Given the description of an element on the screen output the (x, y) to click on. 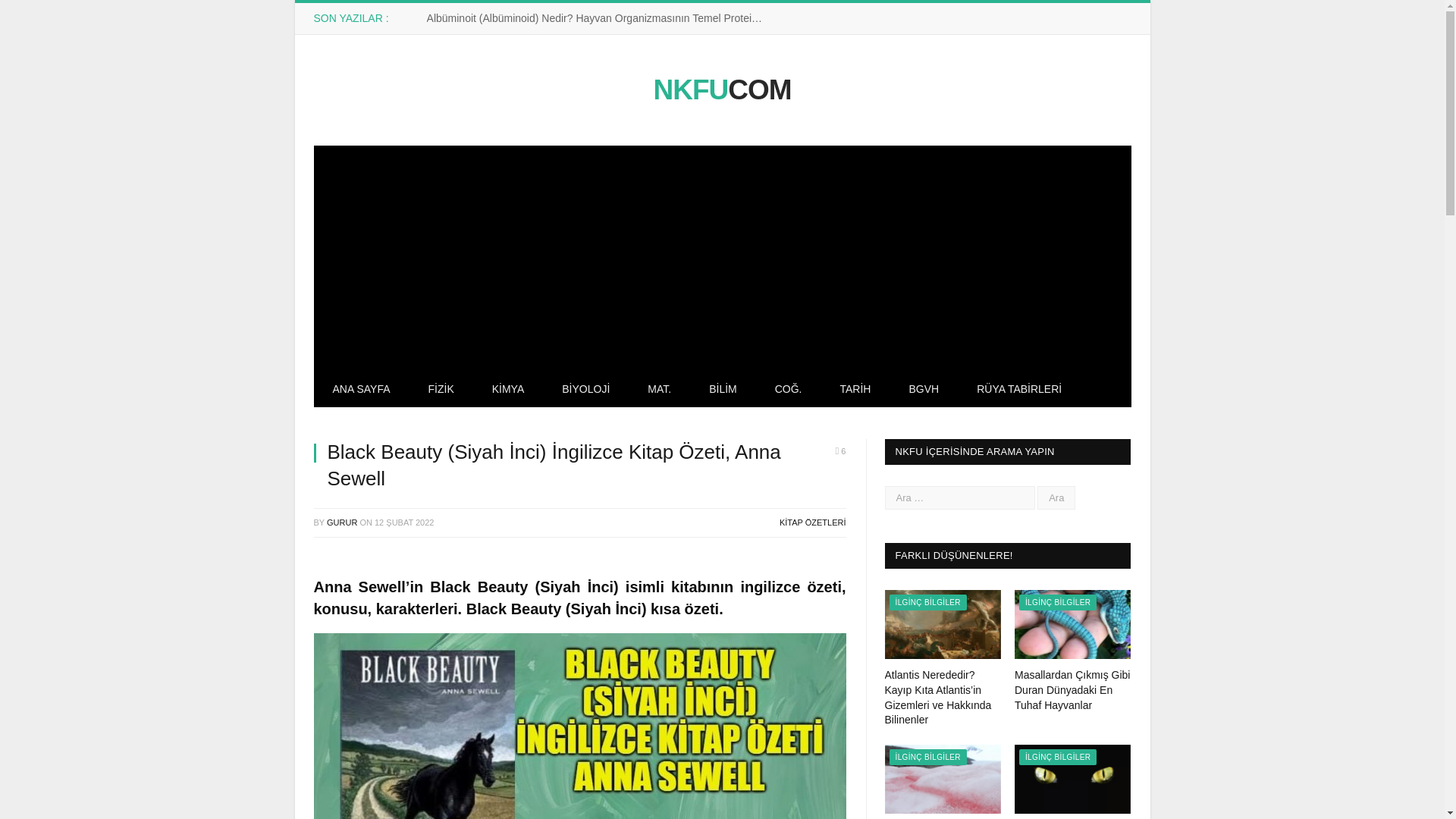
Nkfu (721, 89)
MAT. (659, 390)
NKFUCOM (721, 89)
Ara (1055, 497)
Ara (1055, 497)
BILIM (722, 390)
ANA SAYFA (361, 390)
GURUR (341, 522)
TARIH (855, 390)
BGVH (923, 390)
KIMYA (508, 390)
BIYOLOJI (585, 390)
FIZIK (441, 390)
